Given the description of an element on the screen output the (x, y) to click on. 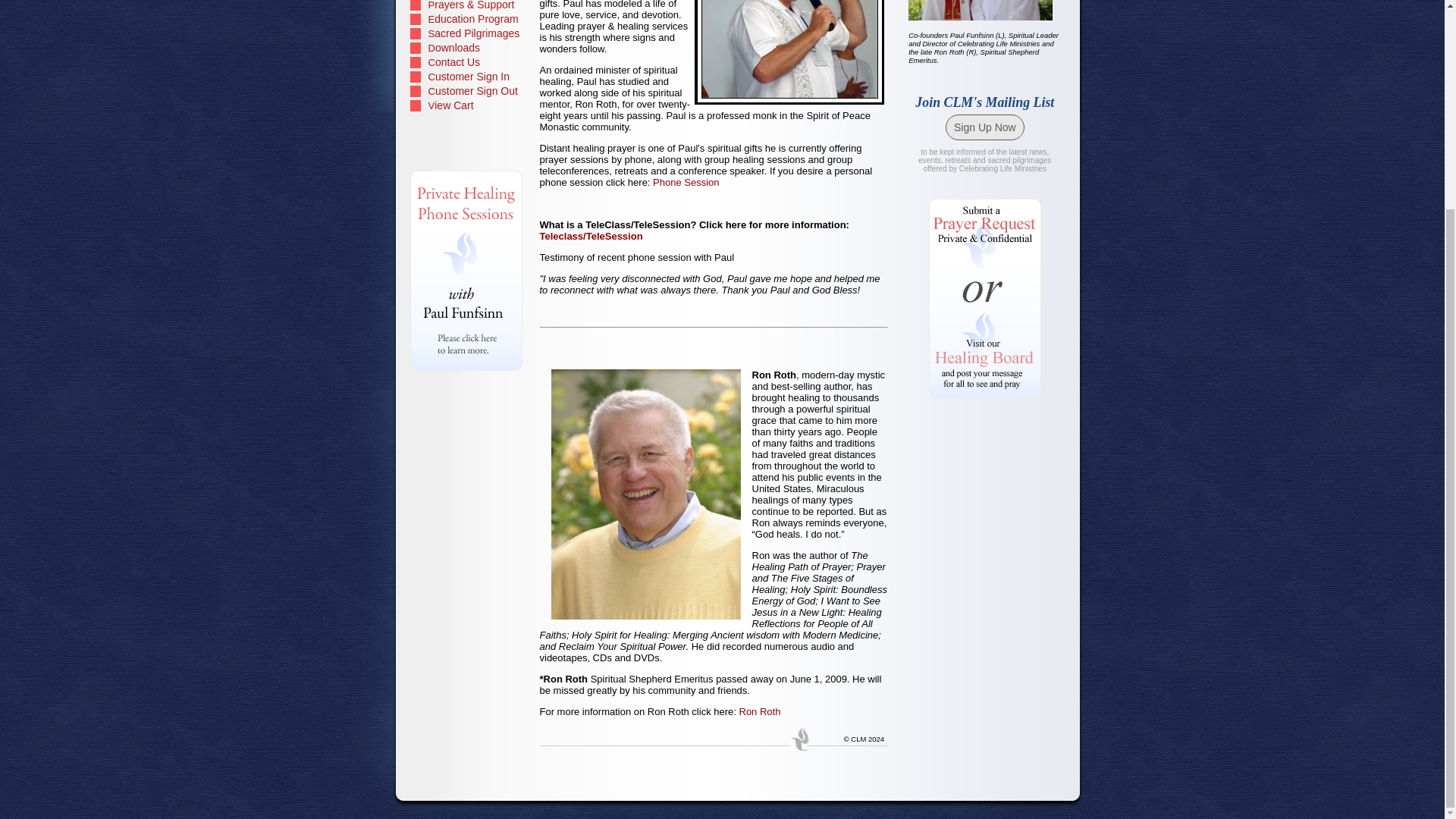
Sign Up Now (984, 127)
Customer Sign Out (467, 91)
Downloads (467, 48)
Sacred Pilgrimages (467, 33)
Phone Session (685, 182)
Click to visit Healing Board (985, 352)
View Cart (467, 105)
Customer Sign In (467, 76)
Contact Us (467, 61)
Click for Prayer Requests (985, 250)
Ron Roth (759, 711)
Education Program (467, 19)
